Given the description of an element on the screen output the (x, y) to click on. 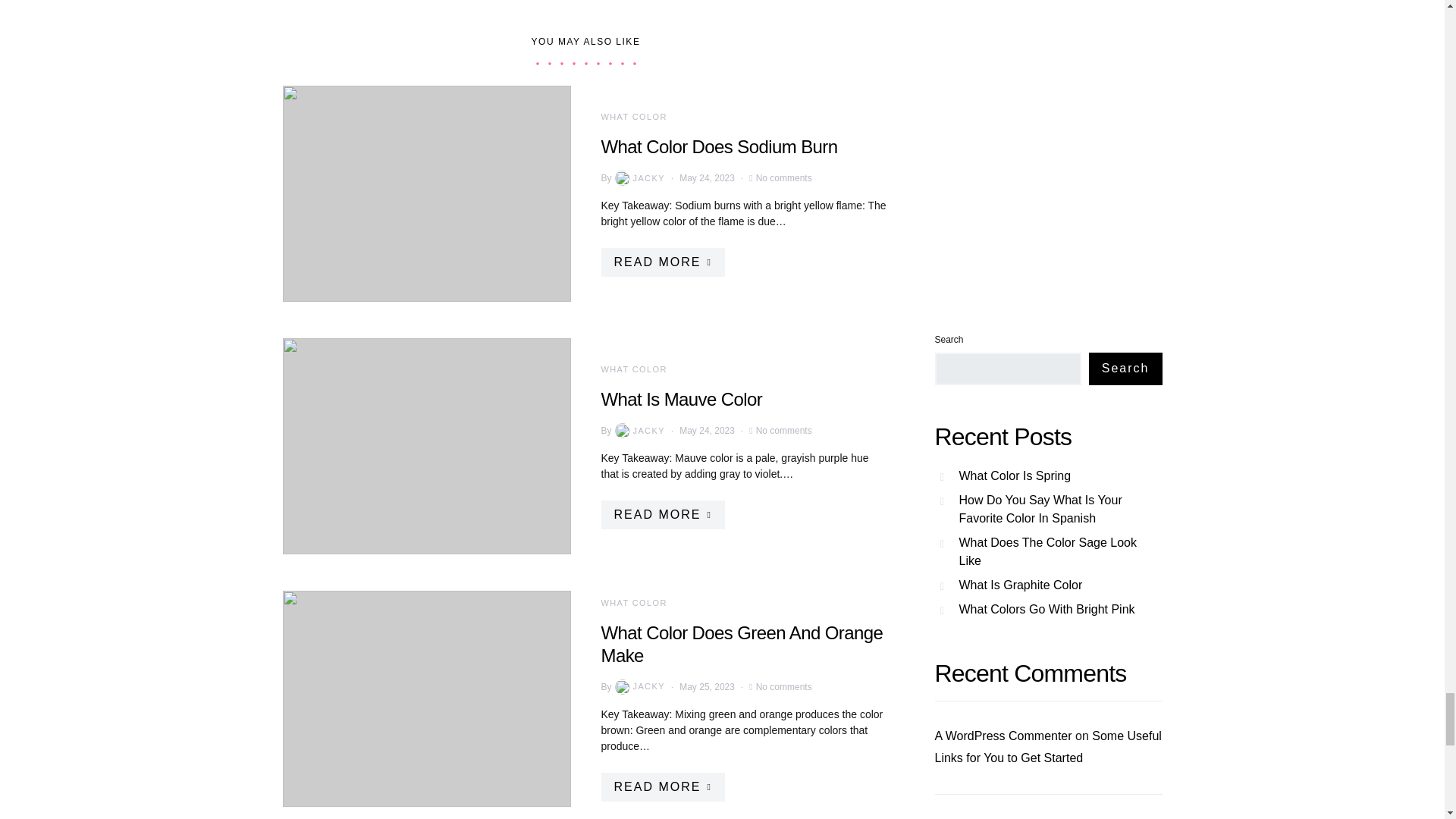
JACKY (638, 177)
View all posts by Jacky (638, 430)
READ MORE (661, 262)
No comments (783, 430)
WHAT COLOR (632, 116)
What Is Mauve Color (680, 399)
View all posts by Jacky (638, 686)
What Color Does Green And Orange Make (740, 643)
READ MORE (661, 514)
READ MORE (661, 786)
WHAT COLOR (632, 368)
No comments (783, 178)
JACKY (638, 686)
JACKY (638, 430)
WHAT COLOR (632, 601)
